Given the description of an element on the screen output the (x, y) to click on. 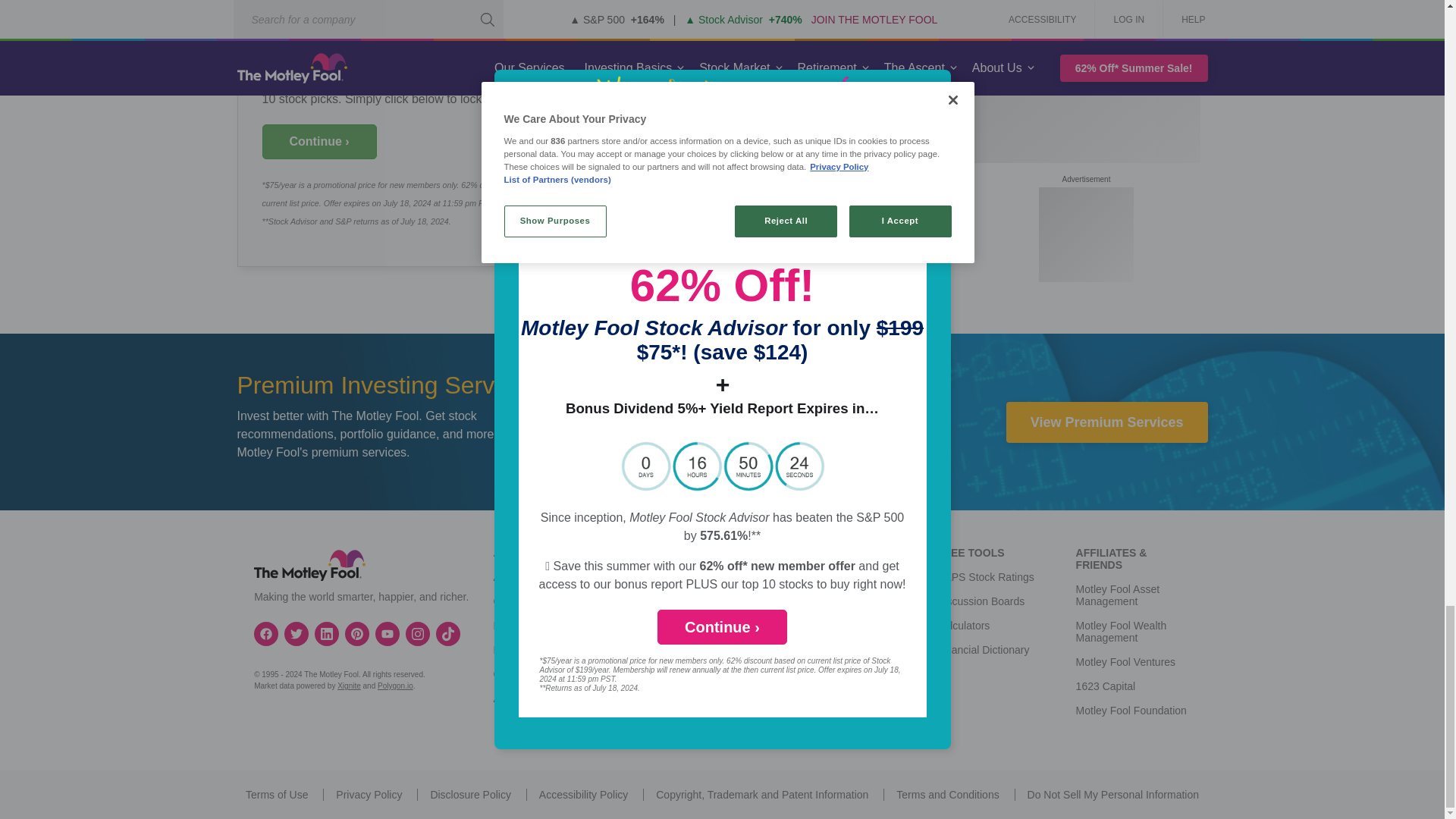
Terms and Conditions (947, 794)
Accessibility Policy (582, 794)
Do Not Sell My Personal Information. (1112, 794)
Copyright, Trademark and Patent Information (761, 794)
Disclosure Policy (470, 794)
Terms of Use (276, 794)
Privacy Policy (368, 794)
